Given the description of an element on the screen output the (x, y) to click on. 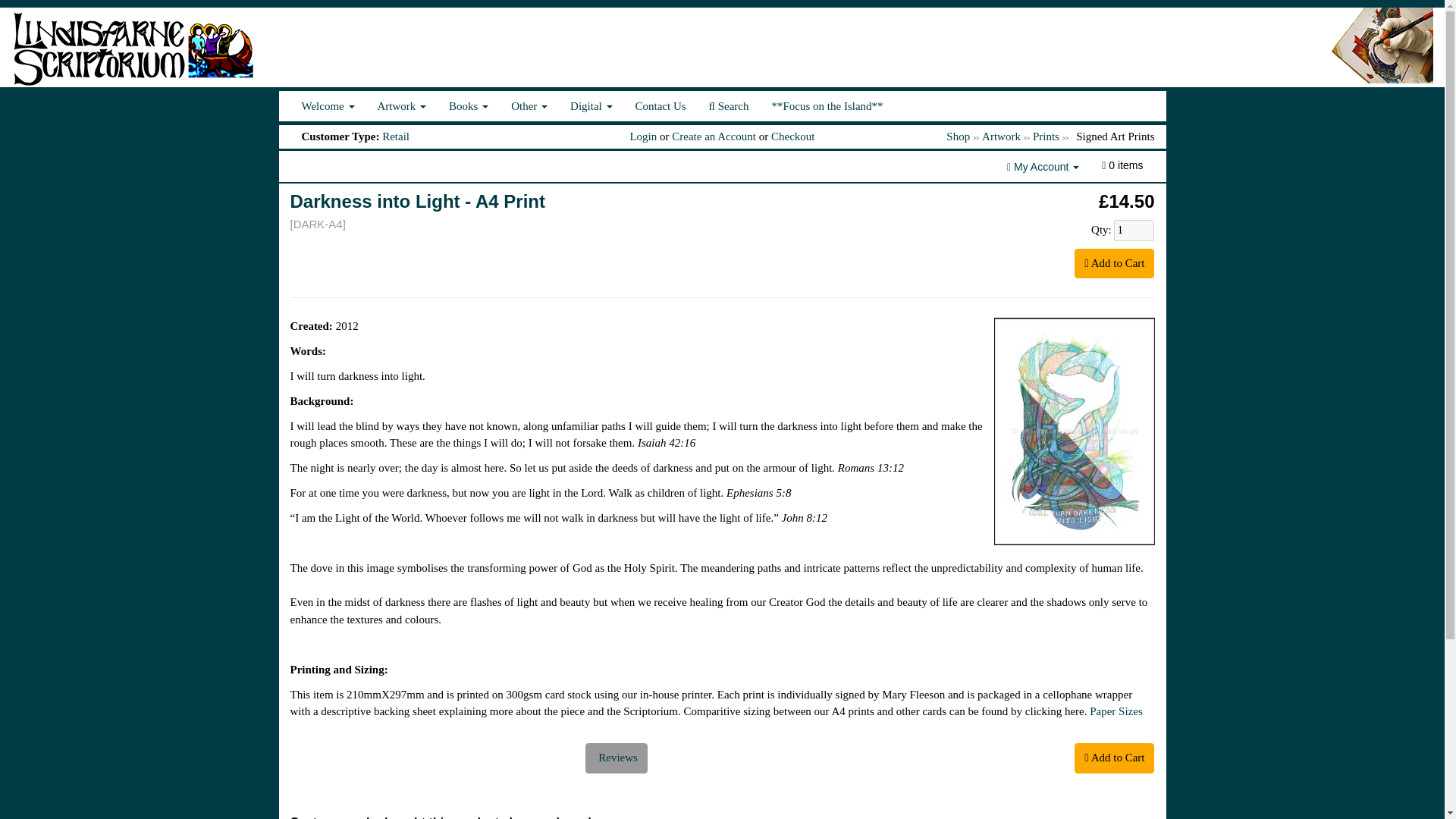
Books (468, 105)
Welcome (327, 105)
1 (1133, 230)
Artwork (402, 105)
